Given the description of an element on the screen output the (x, y) to click on. 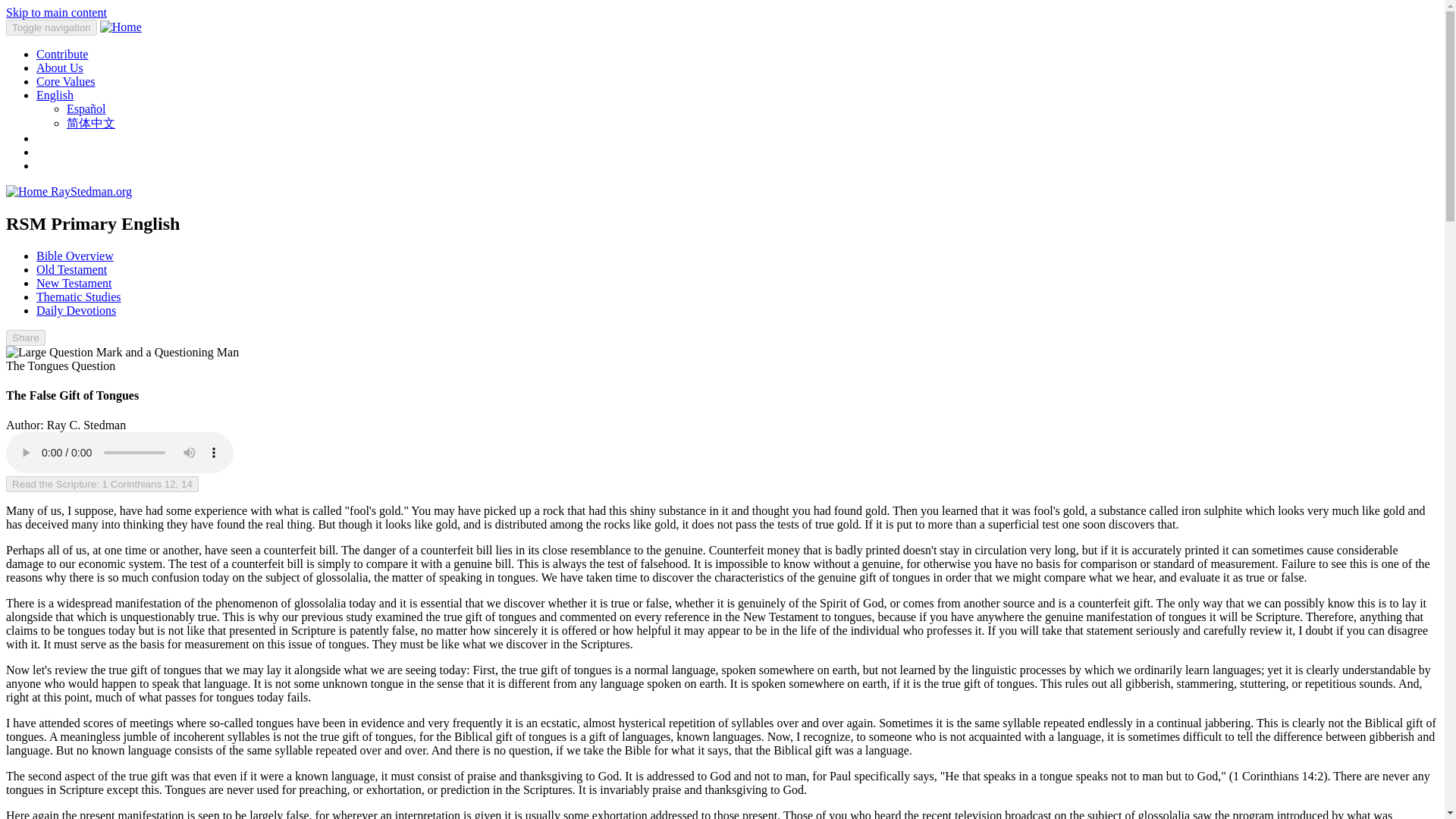
About Us (59, 67)
Thank-you for Sharing! (25, 337)
Bible Overview (74, 255)
Home (91, 191)
RayStedman.org (91, 191)
Core Values (65, 81)
Share (25, 337)
Toggle navigation (51, 27)
Read the Scripture: 1 Corinthians 12, 14 (101, 483)
New Testament (74, 282)
